Given the description of an element on the screen output the (x, y) to click on. 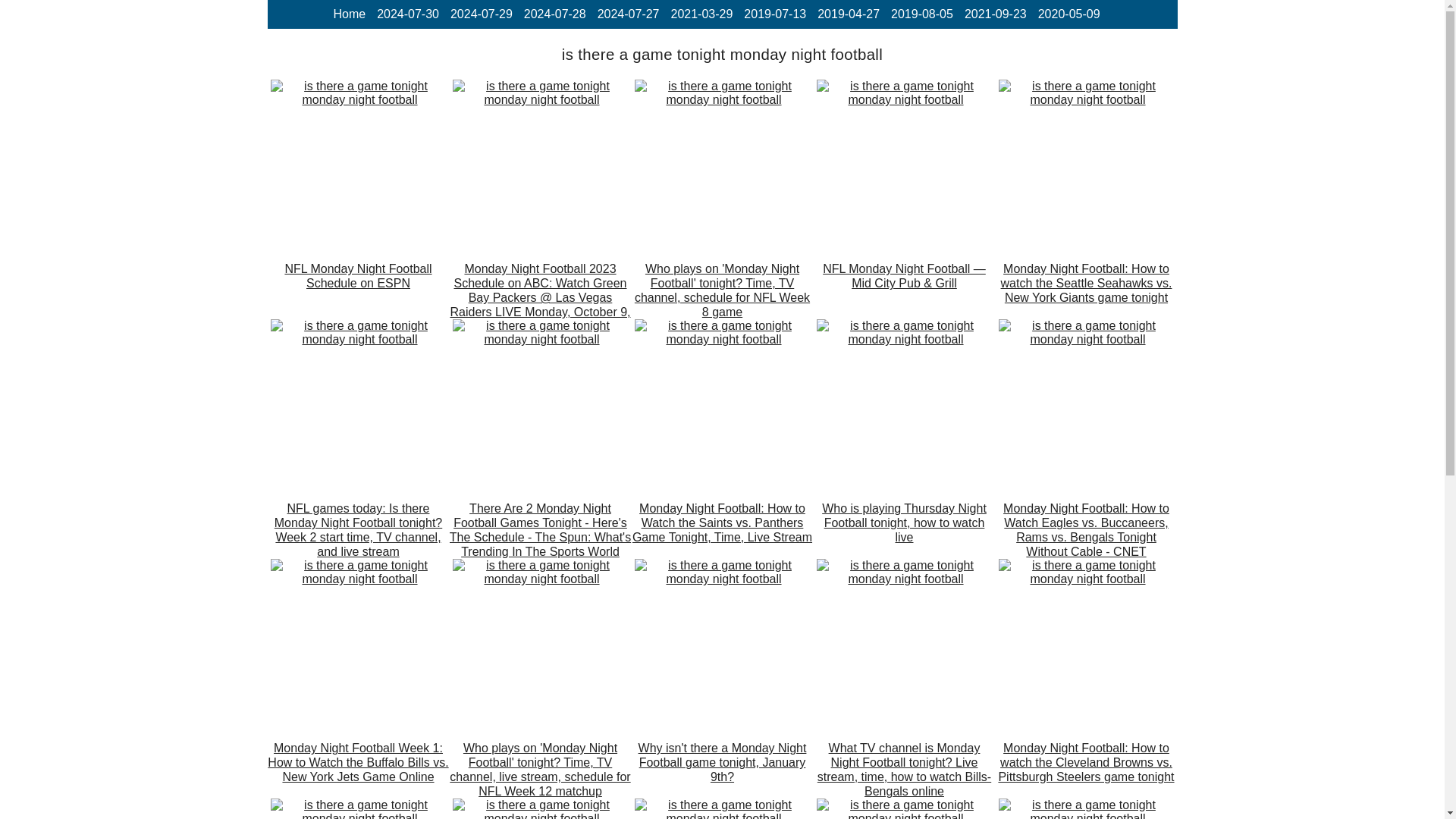
Home (349, 13)
2024-07-27 (627, 13)
NFL Monday Night Football Schedule on ESPN (357, 290)
2024-07-29 (480, 13)
2024-07-28 (555, 13)
2019-04-27 (847, 13)
